Given the description of an element on the screen output the (x, y) to click on. 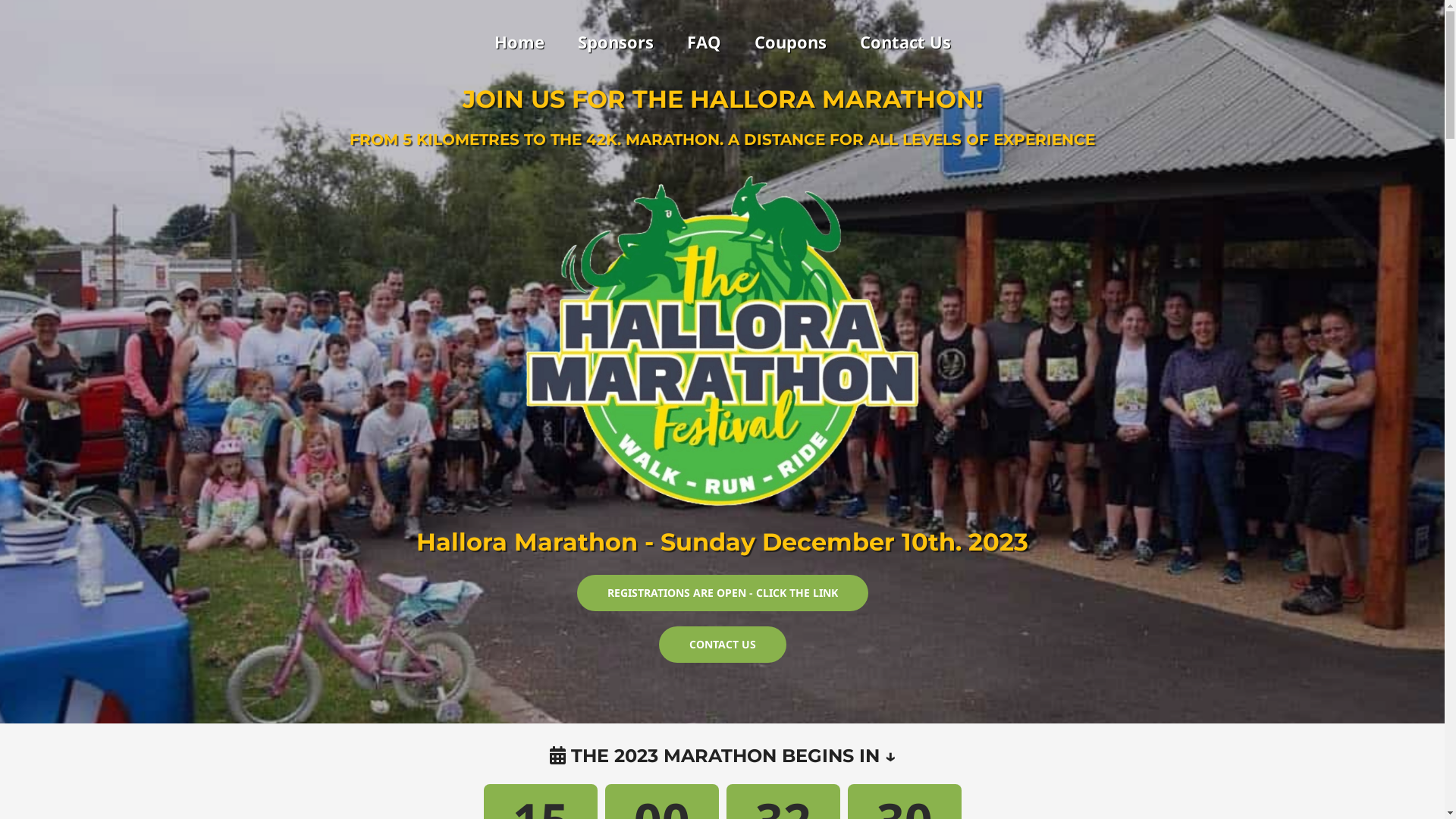
REGISTRATIONS ARE OPEN - CLICK THE LINK Element type: text (721, 592)
Coupons Element type: text (789, 41)
Home Element type: text (519, 41)
FAQ Element type: text (703, 41)
CONTACT US Element type: text (721, 644)
Sponsors Element type: text (615, 41)
Contact Us Element type: text (905, 41)
